Given the description of an element on the screen output the (x, y) to click on. 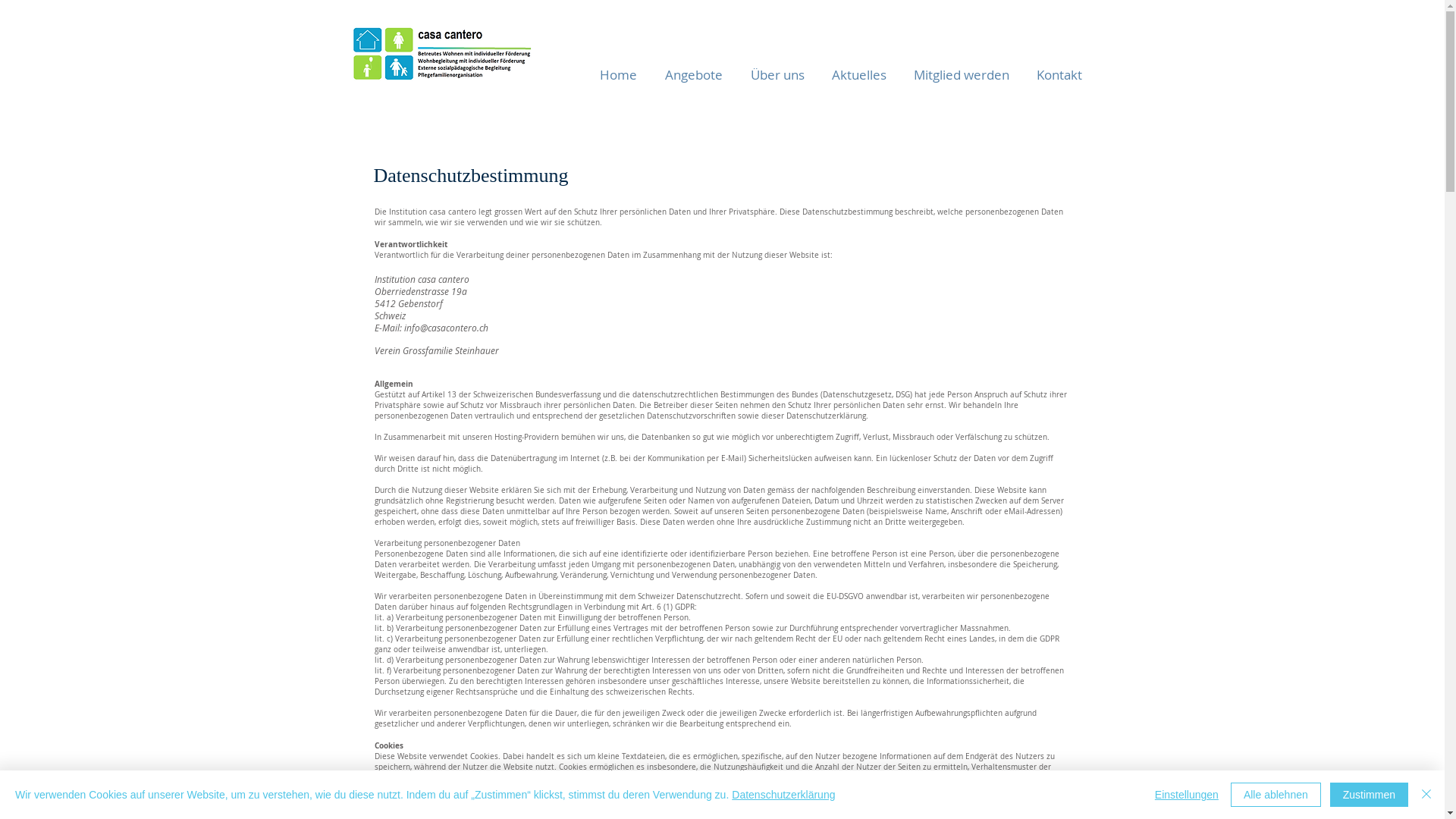
Home Element type: text (617, 73)
Angebote Element type: text (693, 73)
Zustimmen Element type: text (1369, 794)
Kontakt Element type: text (1058, 73)
Alle ablehnen Element type: text (1275, 794)
Mitglied werden Element type: text (960, 73)
Aktuelles Element type: text (858, 73)
